Given the description of an element on the screen output the (x, y) to click on. 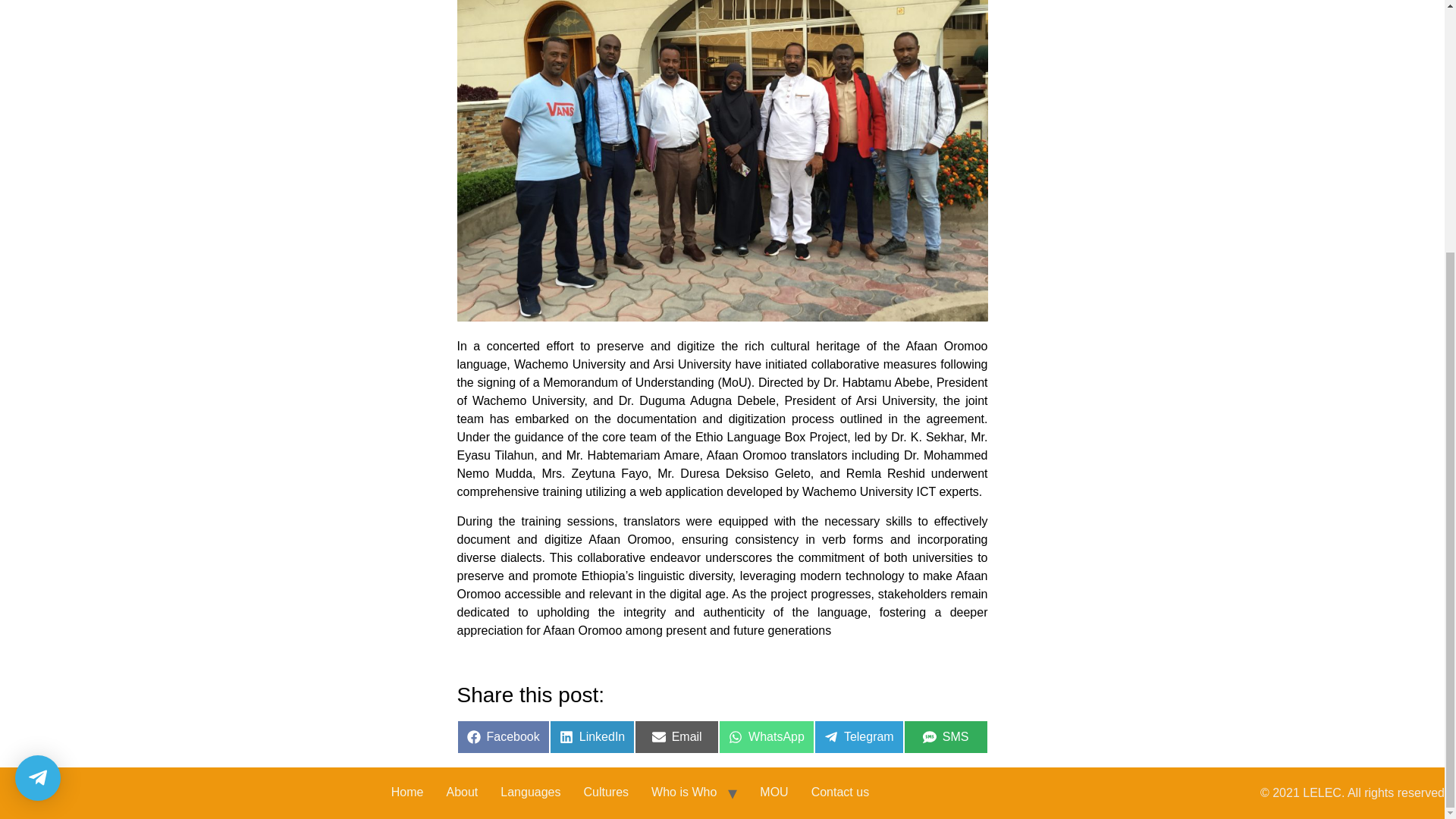
Telegram (858, 736)
Languages (530, 792)
About (462, 792)
Who is Who (684, 792)
SMS (946, 736)
Home (407, 792)
WhatsApp (766, 736)
Contact us (839, 792)
Email (676, 736)
MOU (773, 792)
LinkedIn (592, 736)
Facebook (502, 736)
Cultures (606, 792)
